Given the description of an element on the screen output the (x, y) to click on. 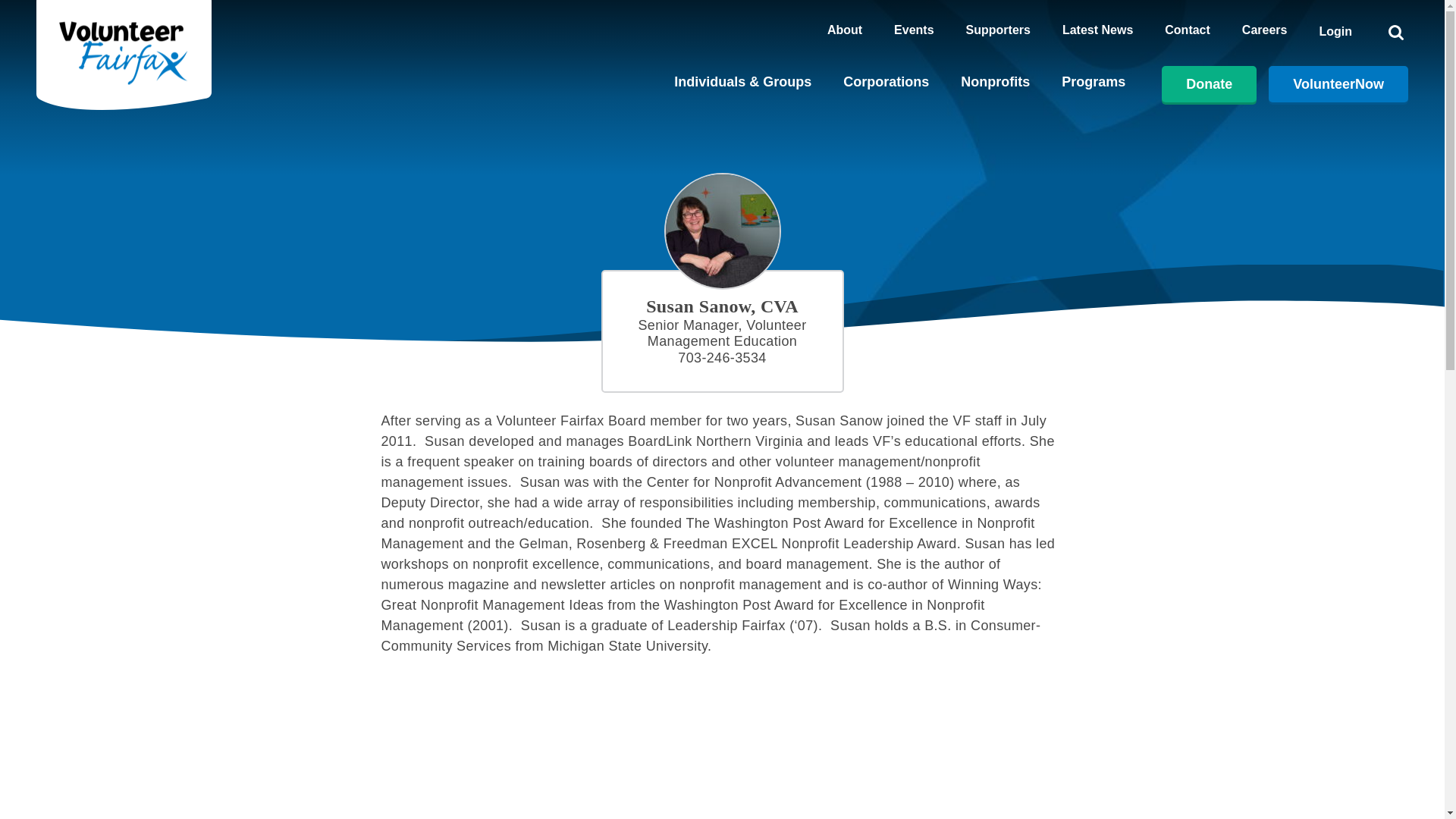
Corporations (885, 83)
Programs (1093, 83)
Events (913, 32)
Nonprofits (994, 83)
Latest News (1097, 32)
Careers (1264, 32)
About (844, 32)
Supporters (998, 32)
search (1396, 32)
Contact (1186, 32)
Login (1335, 31)
Search Now (996, 410)
